Given the description of an element on the screen output the (x, y) to click on. 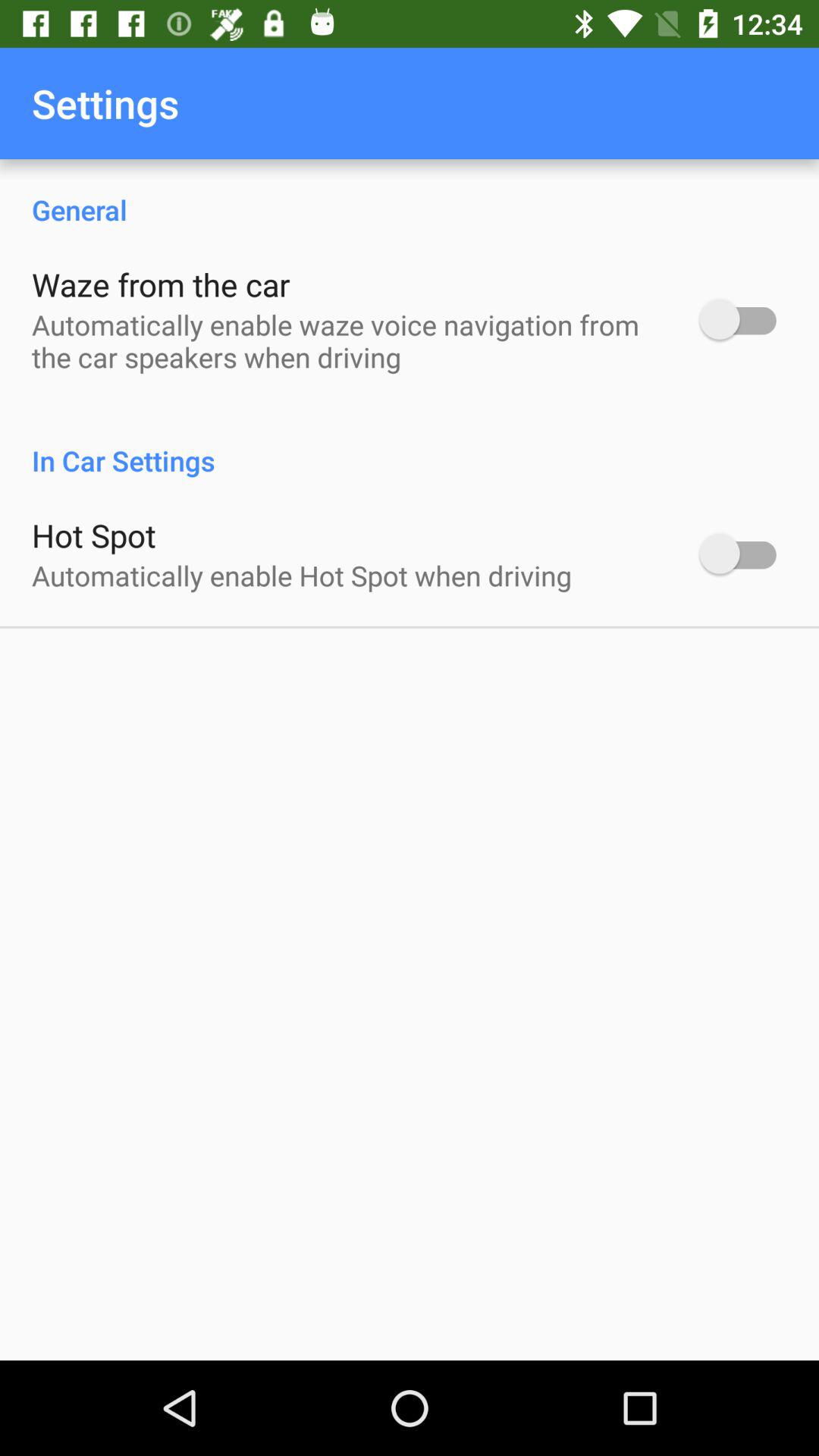
launch the general icon (409, 193)
